Given the description of an element on the screen output the (x, y) to click on. 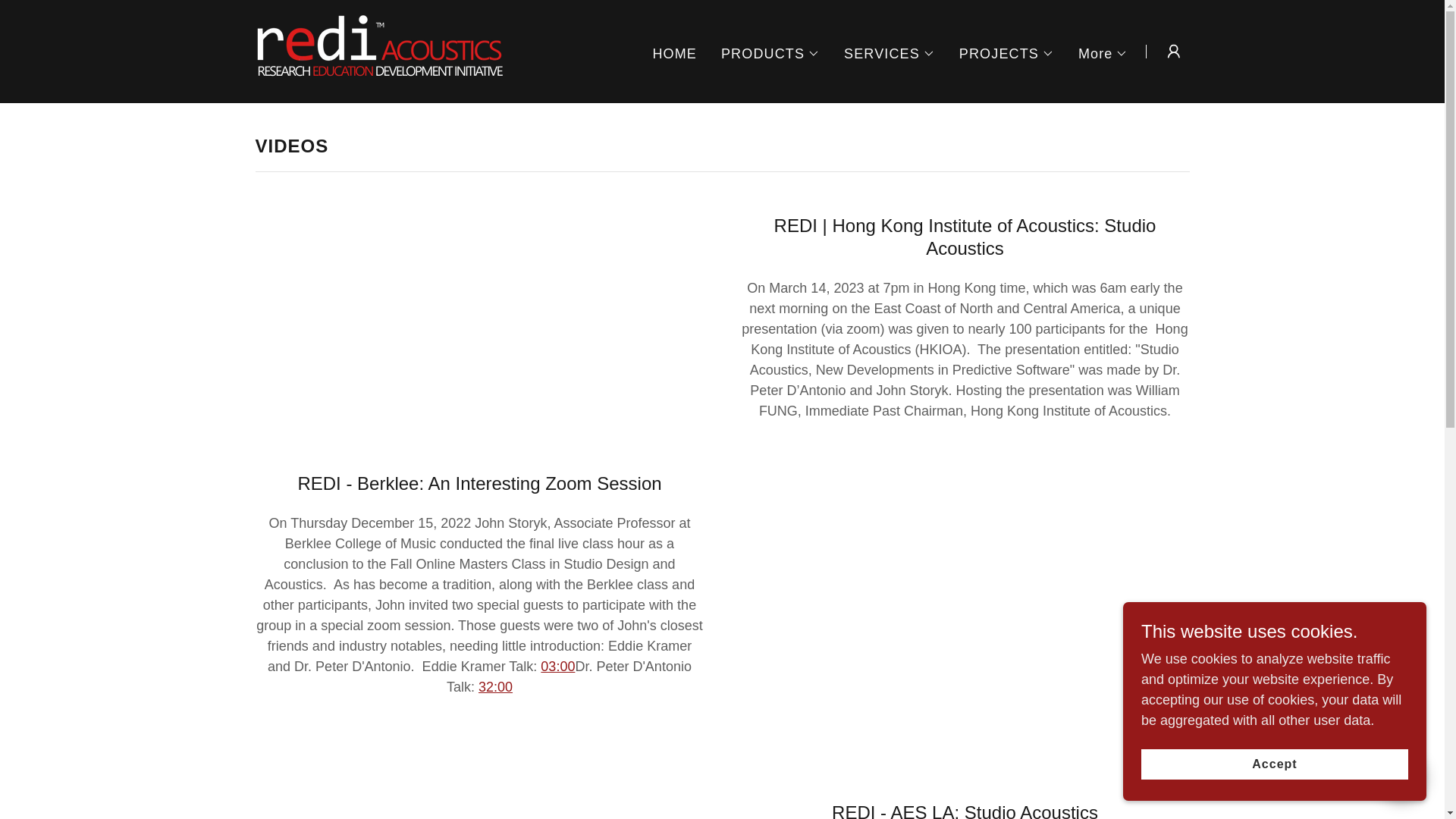
More (1103, 53)
Redi Acoustics LLC (378, 50)
PROJECTS (1006, 53)
SERVICES (889, 53)
HOME (674, 52)
PRODUCTS (769, 53)
